Given the description of an element on the screen output the (x, y) to click on. 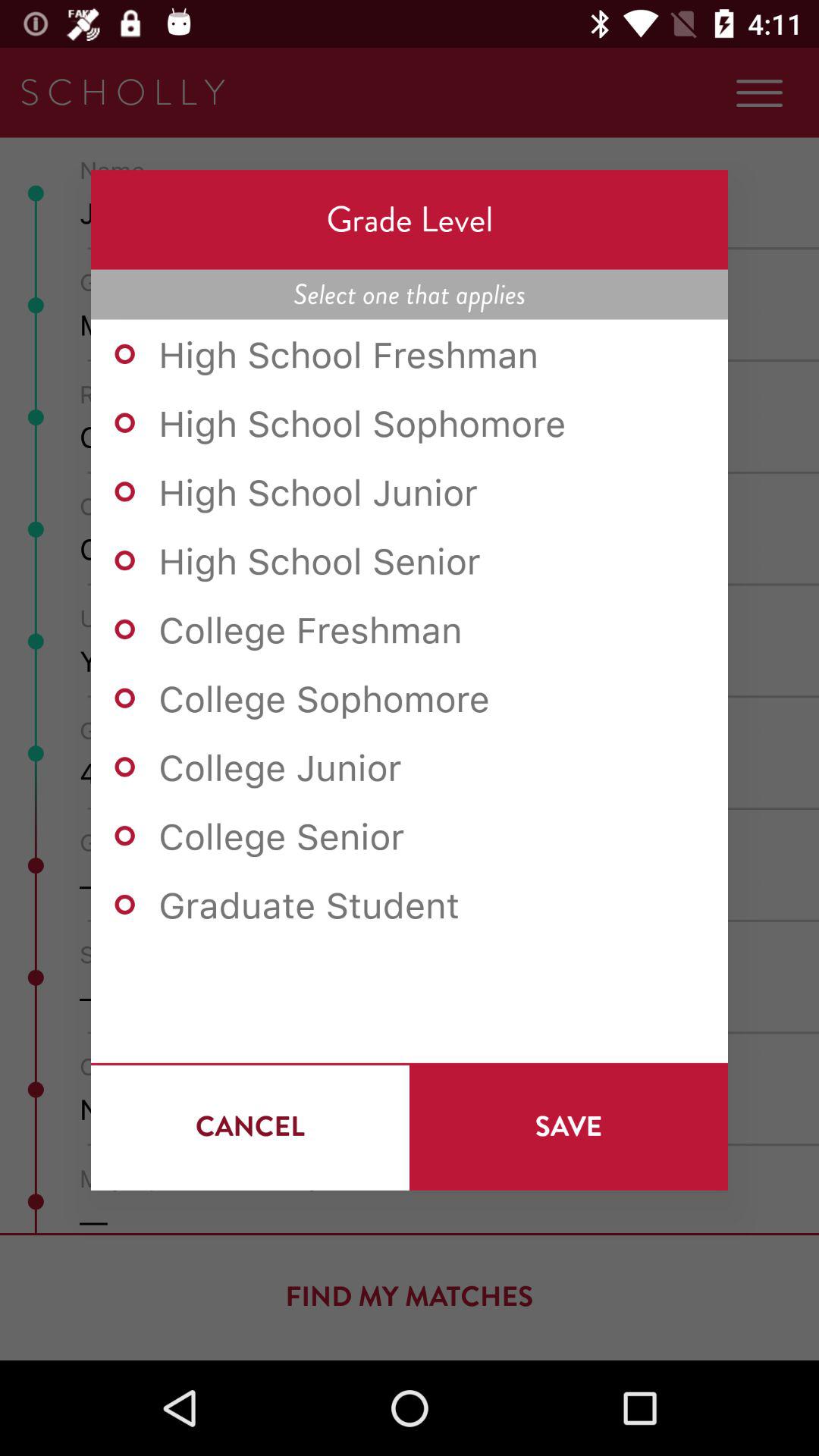
swipe until the cancel item (250, 1126)
